Given the description of an element on the screen output the (x, y) to click on. 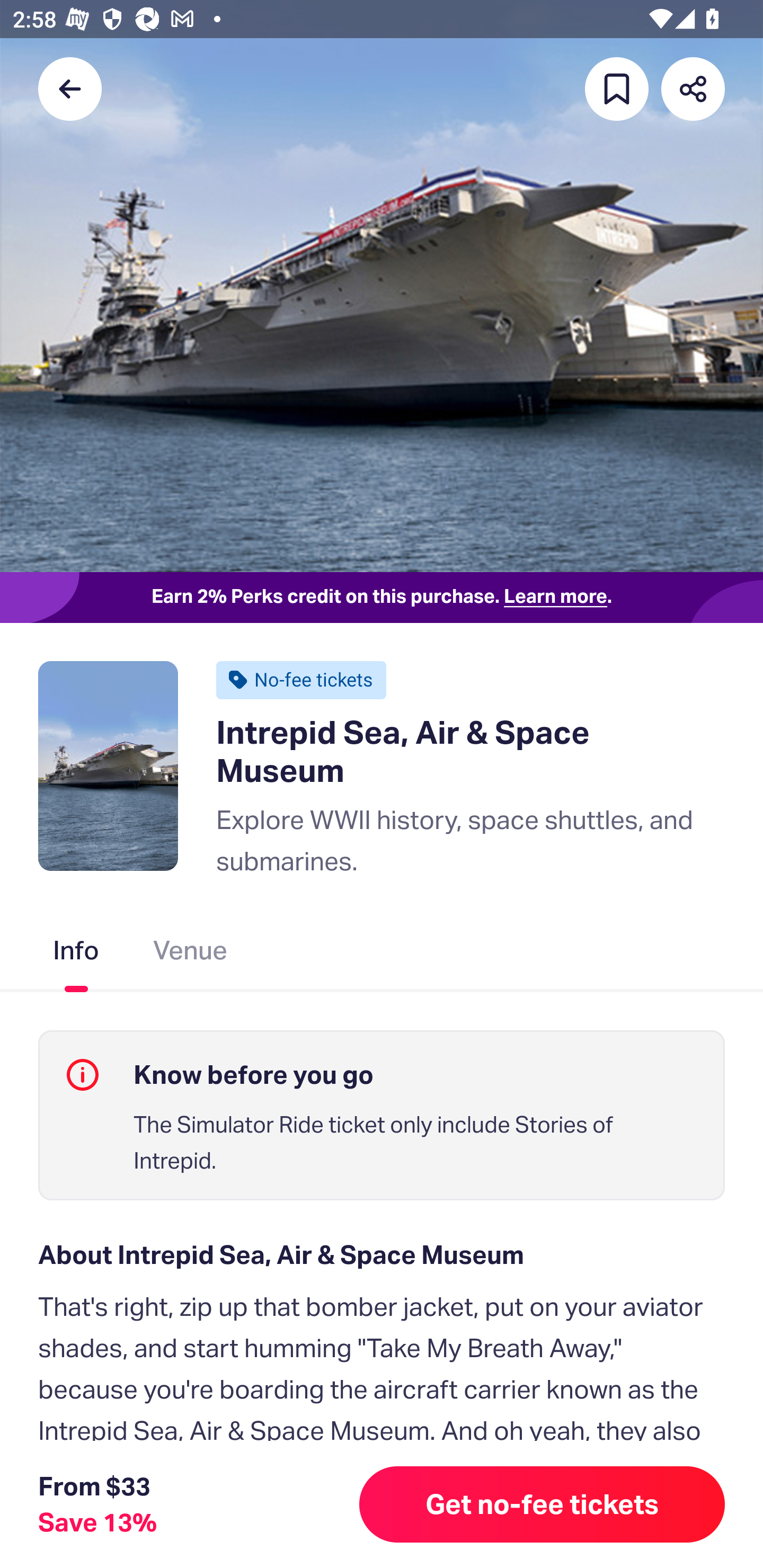
Earn 2% Perks credit on this purchase. Learn more. (381, 597)
Venue (190, 953)
About Intrepid Sea, Air & Space Museum (381, 1254)
Get no-fee tickets (541, 1504)
Read more (99, 1519)
